Given the description of an element on the screen output the (x, y) to click on. 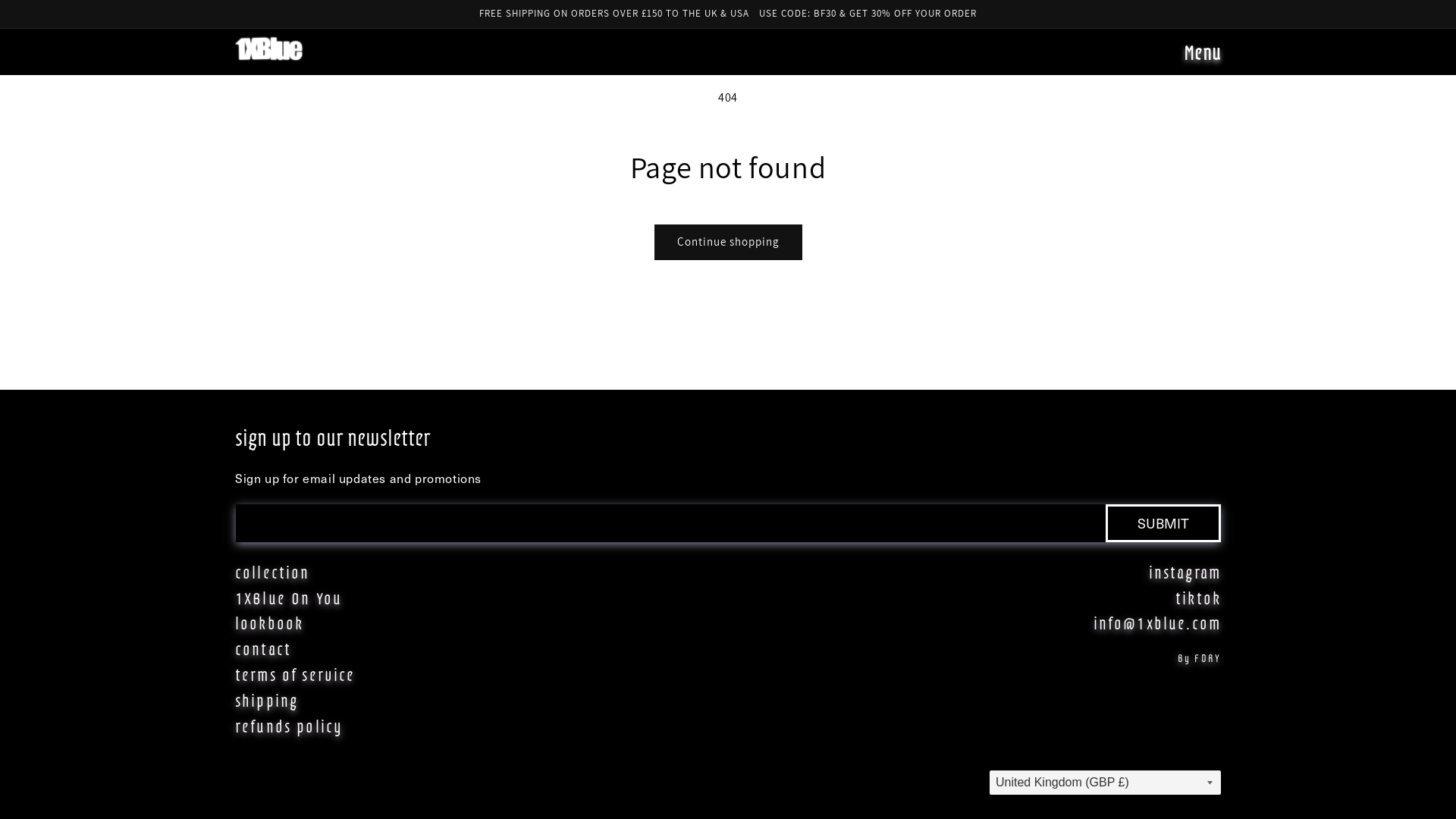
By FDRY Element type: text (1198, 657)
Menu Element type: text (1201, 57)
Cart Element type: text (1152, 54)
shipping Element type: text (266, 699)
tiktok Element type: text (1197, 597)
collection Element type: text (272, 571)
terms of service Element type: text (295, 674)
1XBlue On You Element type: text (288, 597)
info@1xblue.com Element type: text (1156, 622)
refunds policy Element type: text (288, 725)
lookbook Element type: text (269, 622)
Continue shopping Element type: text (727, 242)
SUBMIT Element type: text (1162, 523)
instagram Element type: text (1184, 571)
contact Element type: text (263, 648)
